Given the description of an element on the screen output the (x, y) to click on. 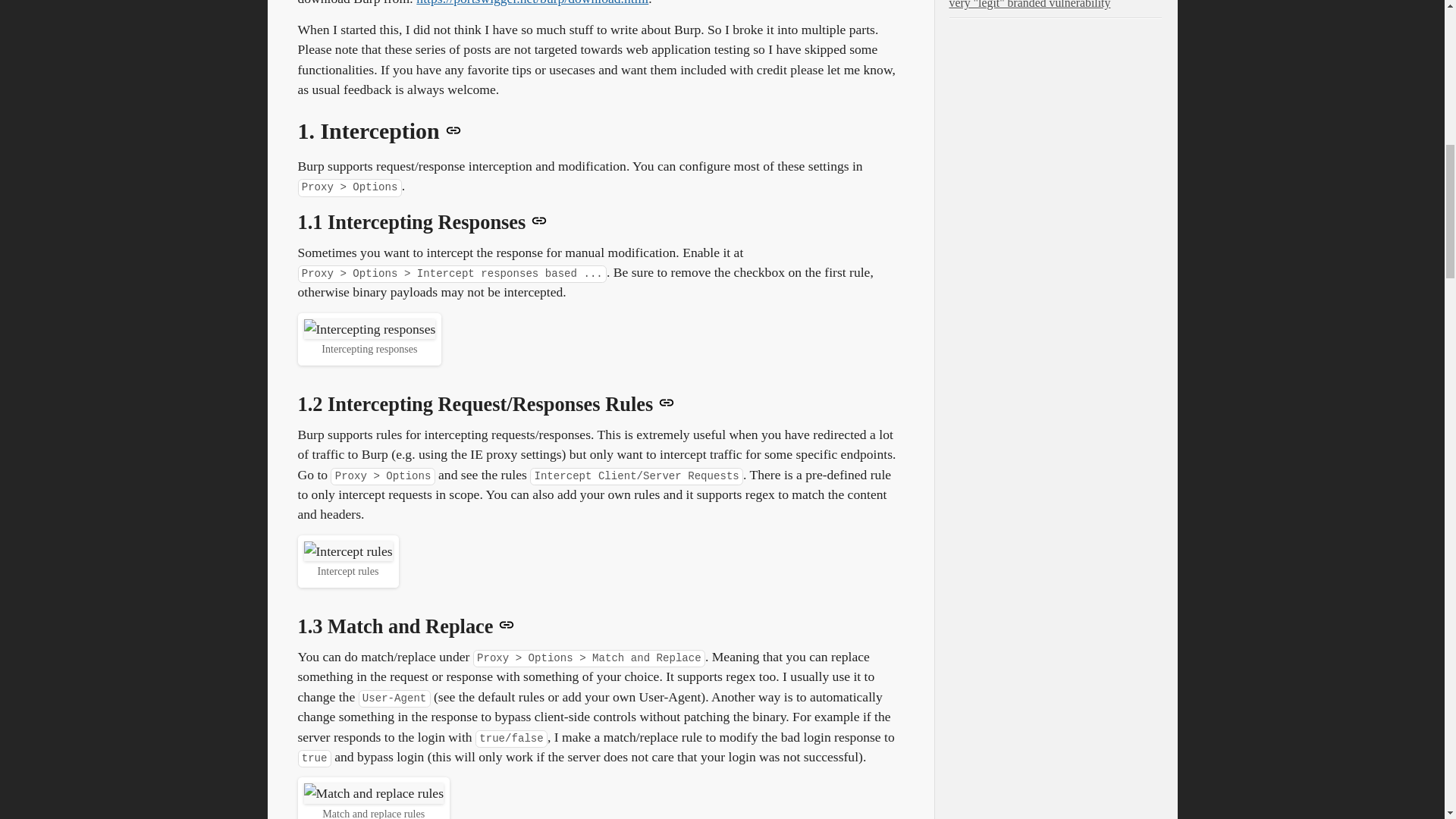
Intercept rules (346, 551)
Match and replace rules (373, 792)
Intercepting responses (368, 329)
